Given the description of an element on the screen output the (x, y) to click on. 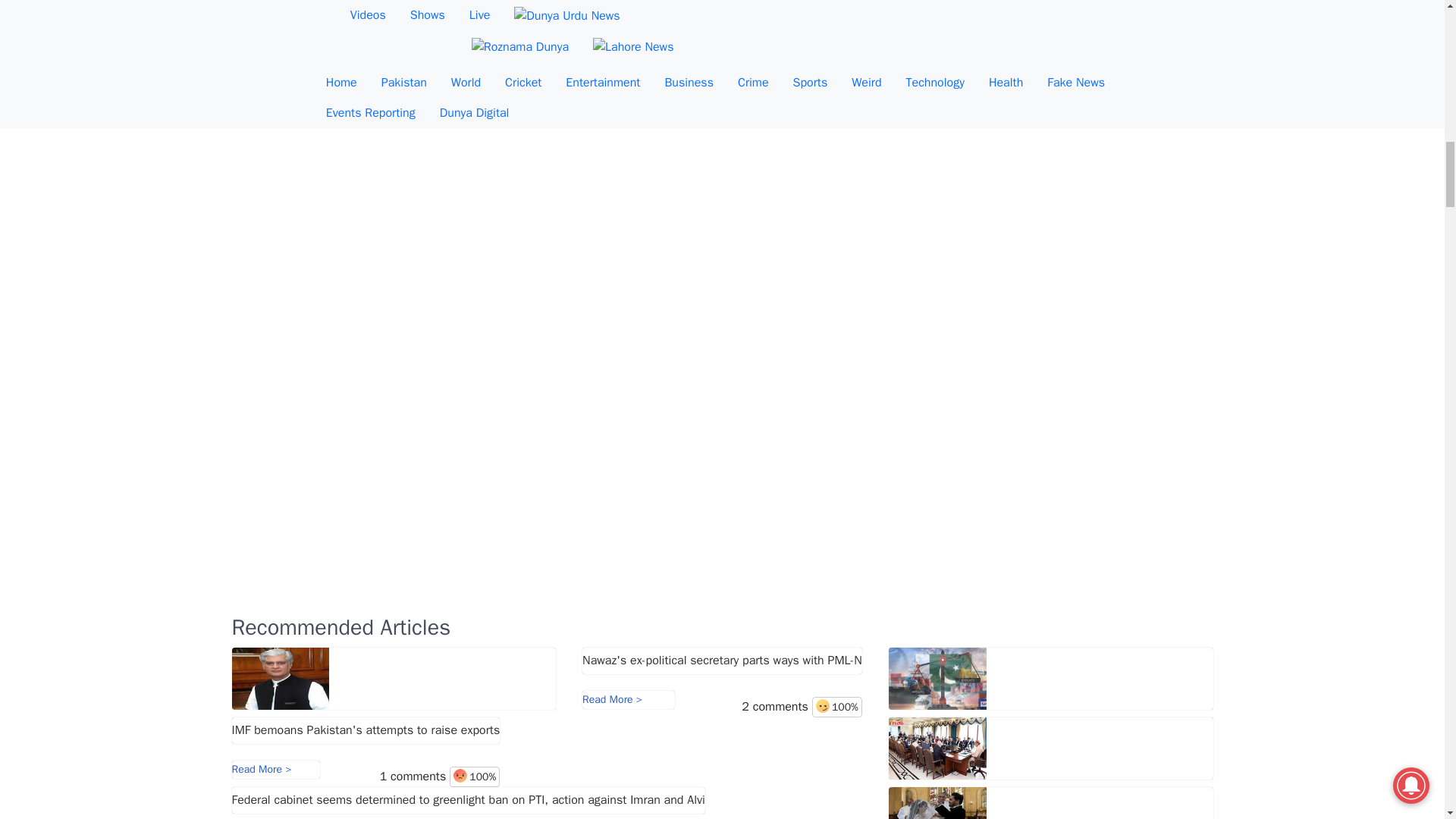
Vuukle Emotes Widget (721, 60)
